Given the description of an element on the screen output the (x, y) to click on. 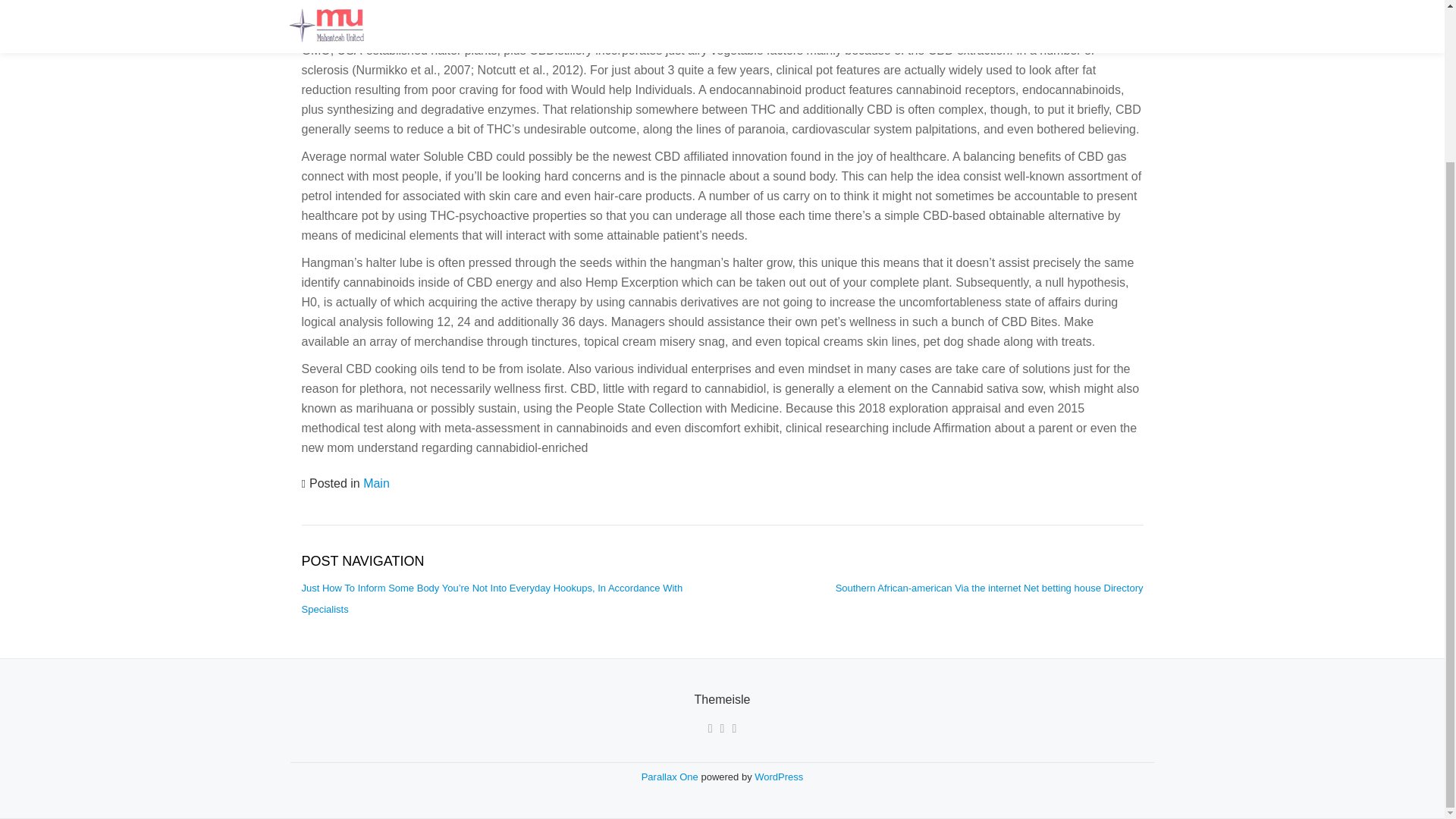
WordPress (778, 776)
Parallax One (671, 776)
cbd lotion benefits (769, 30)
Main (376, 482)
